Given the description of an element on the screen output the (x, y) to click on. 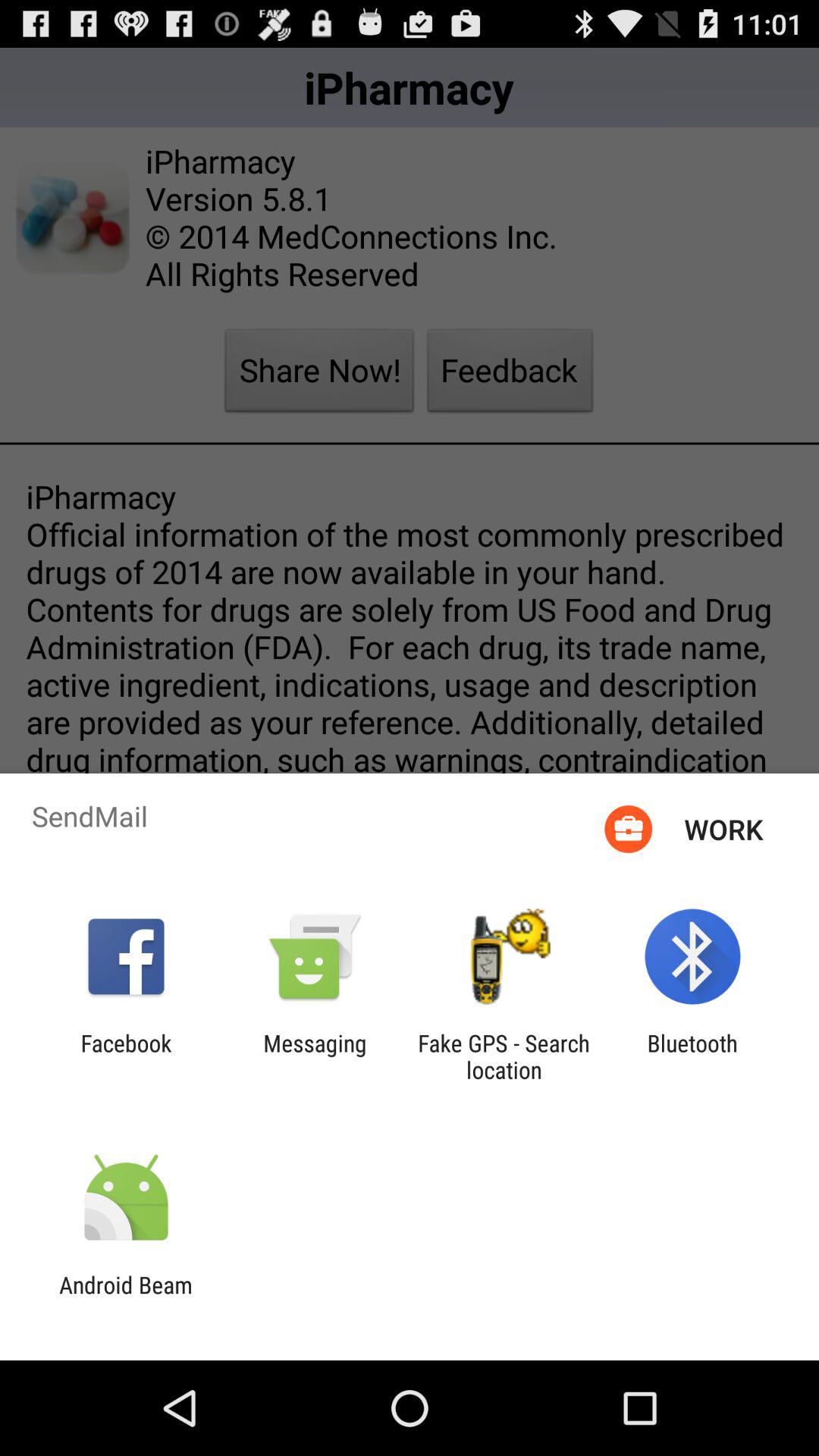
tap app next to the fake gps search icon (692, 1056)
